Given the description of an element on the screen output the (x, y) to click on. 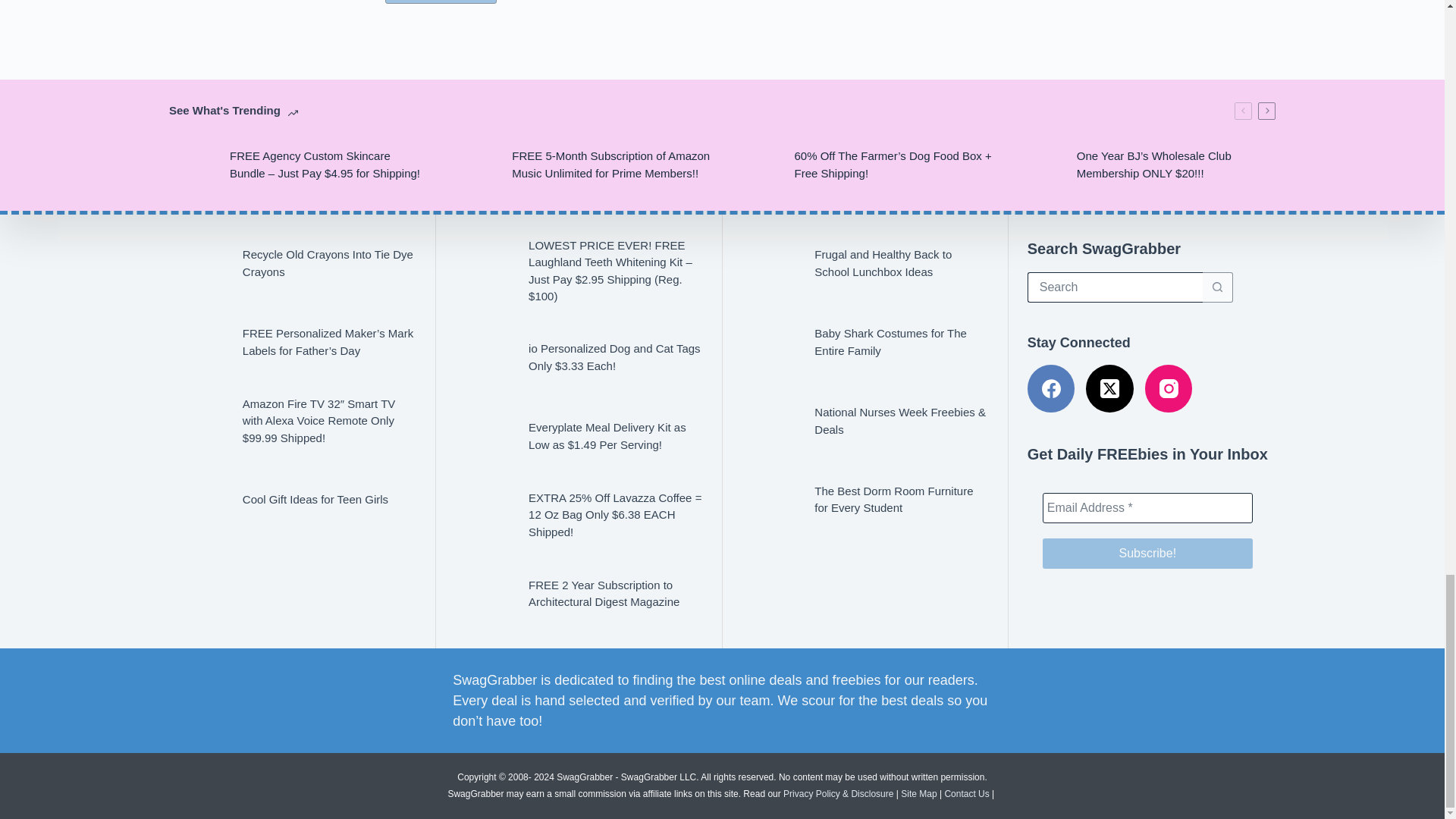
Email Address (1147, 508)
Search for... (1114, 286)
Subscribe! (1147, 553)
